Given the description of an element on the screen output the (x, y) to click on. 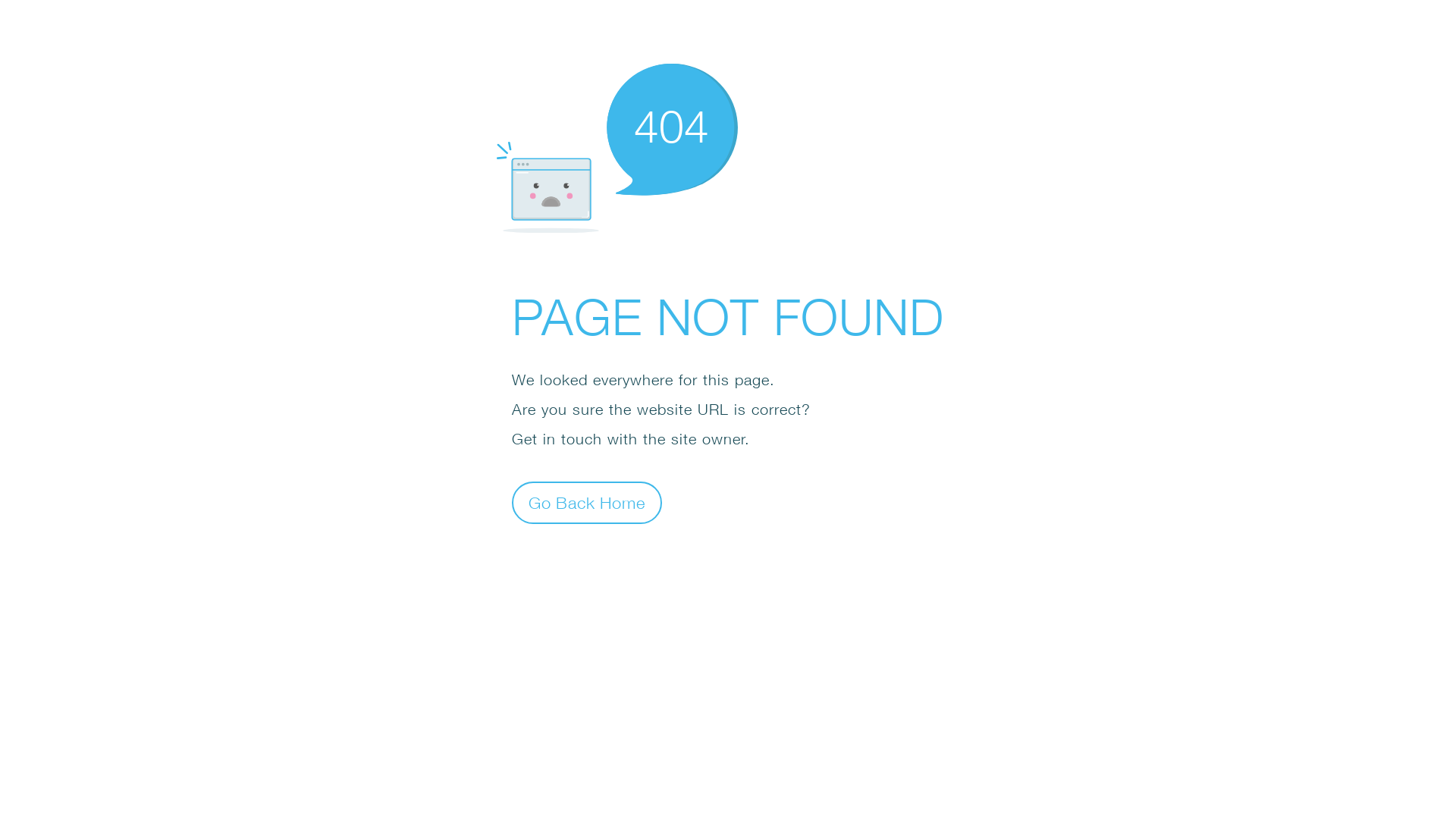
Go Back Home Element type: text (586, 502)
